Given the description of an element on the screen output the (x, y) to click on. 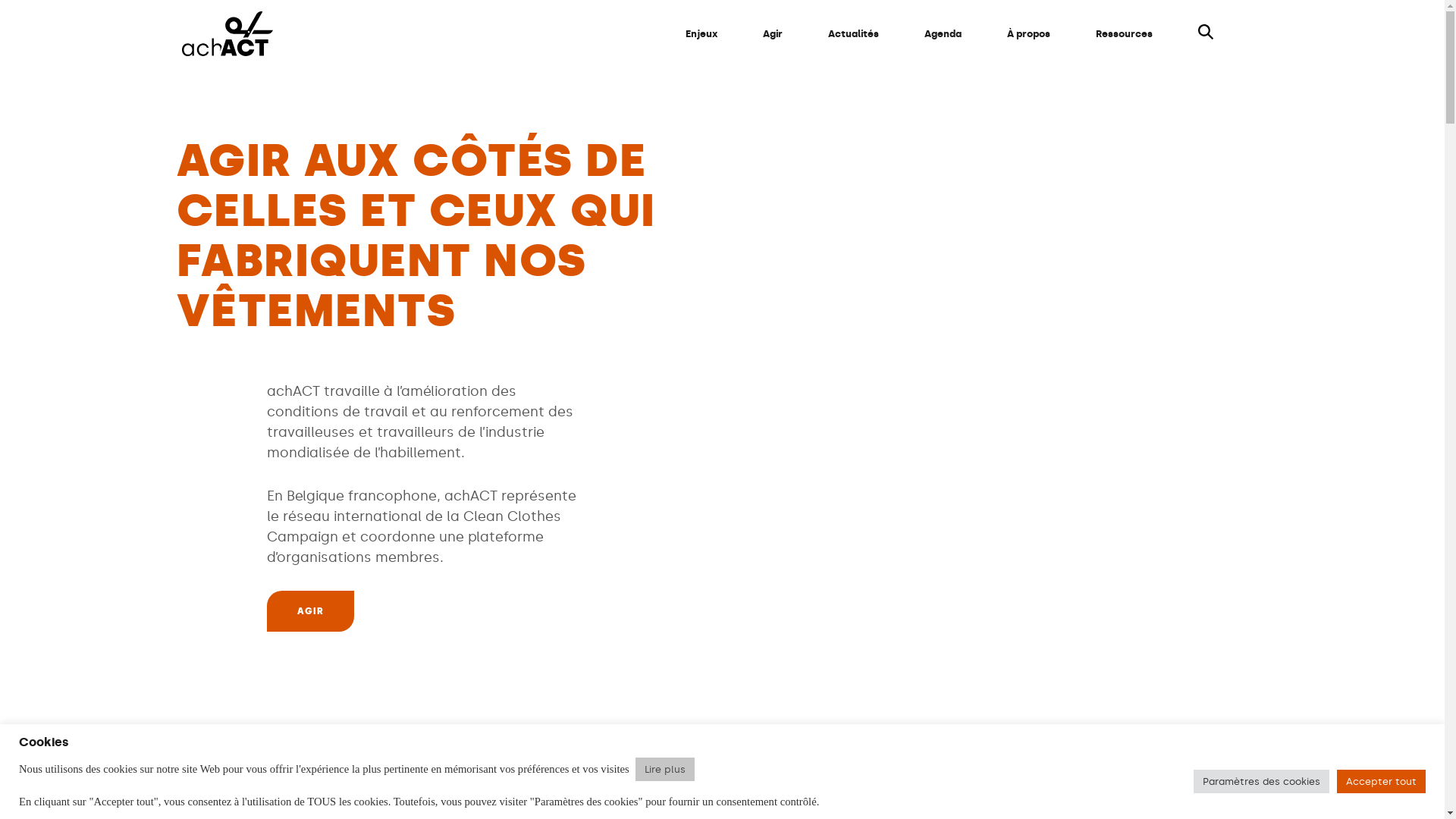
Accepter tout Element type: text (1380, 780)
AGIR Element type: text (310, 610)
Agir Element type: text (772, 33)
Agenda Element type: text (942, 33)
Lire plus Element type: text (664, 769)
Ressources Element type: text (1123, 33)
Enjeux Element type: text (701, 33)
